Given the description of an element on the screen output the (x, y) to click on. 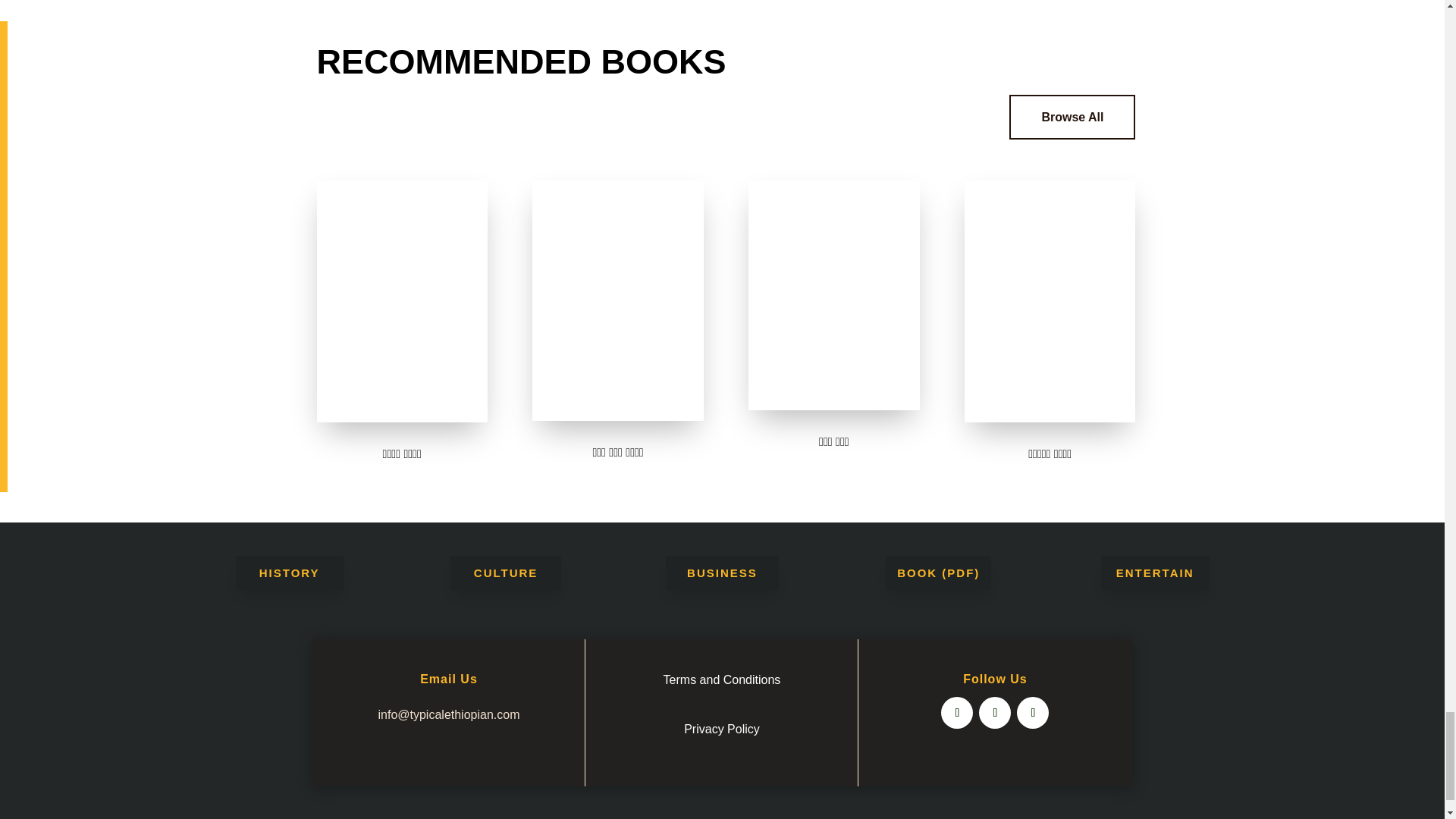
Terms and Conditions (721, 679)
Follow on Facebook (956, 712)
Browse All (1072, 117)
Privacy Policy (722, 728)
